Given the description of an element on the screen output the (x, y) to click on. 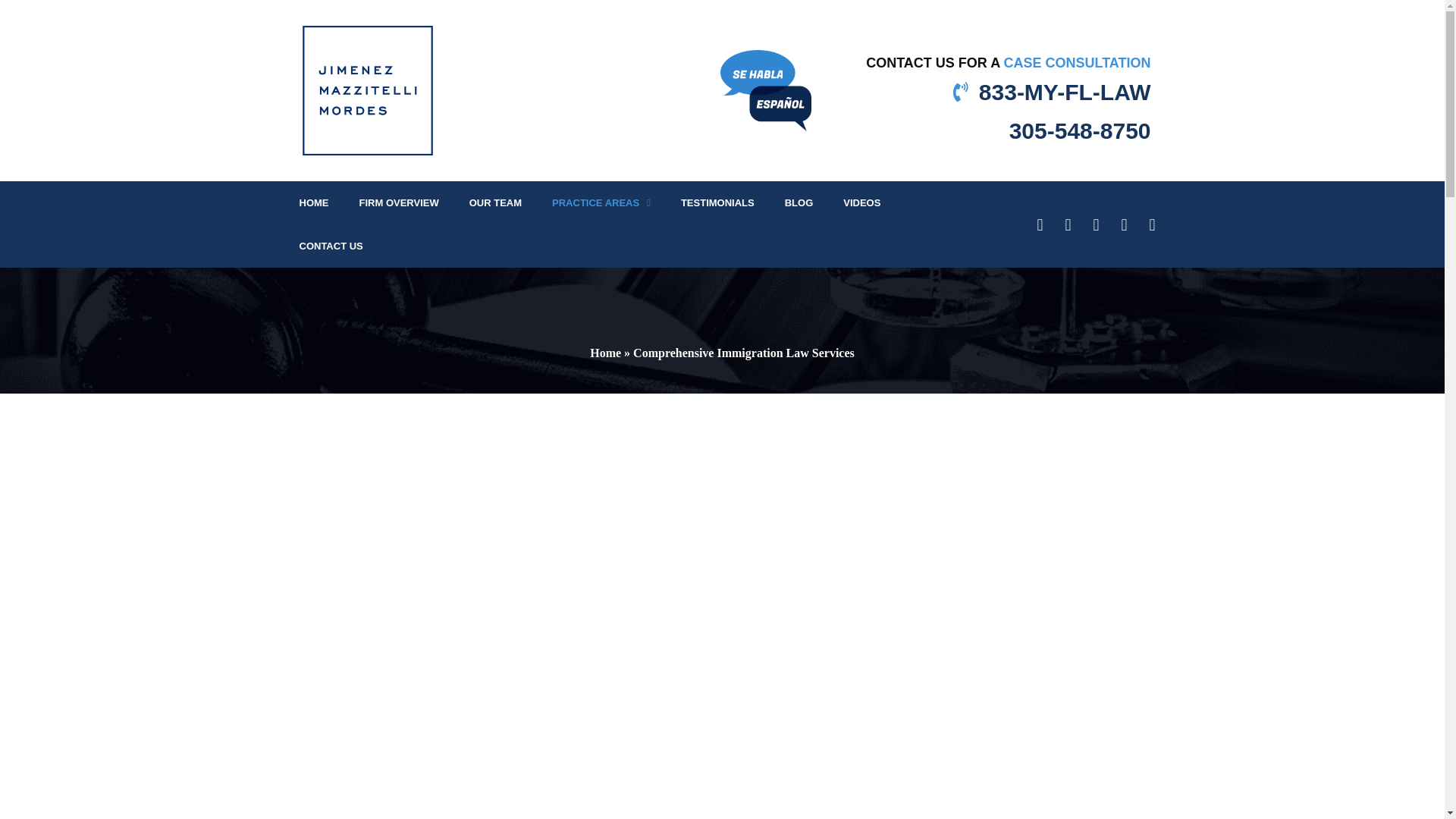
CONTACT US FOR A CASE CONSULTATION (1008, 62)
HOME (313, 202)
833-MY-FL-LAW (1064, 91)
305-548-8750 (989, 130)
JMM LOGO revised (367, 90)
Esp-new1 (765, 90)
